Given the description of an element on the screen output the (x, y) to click on. 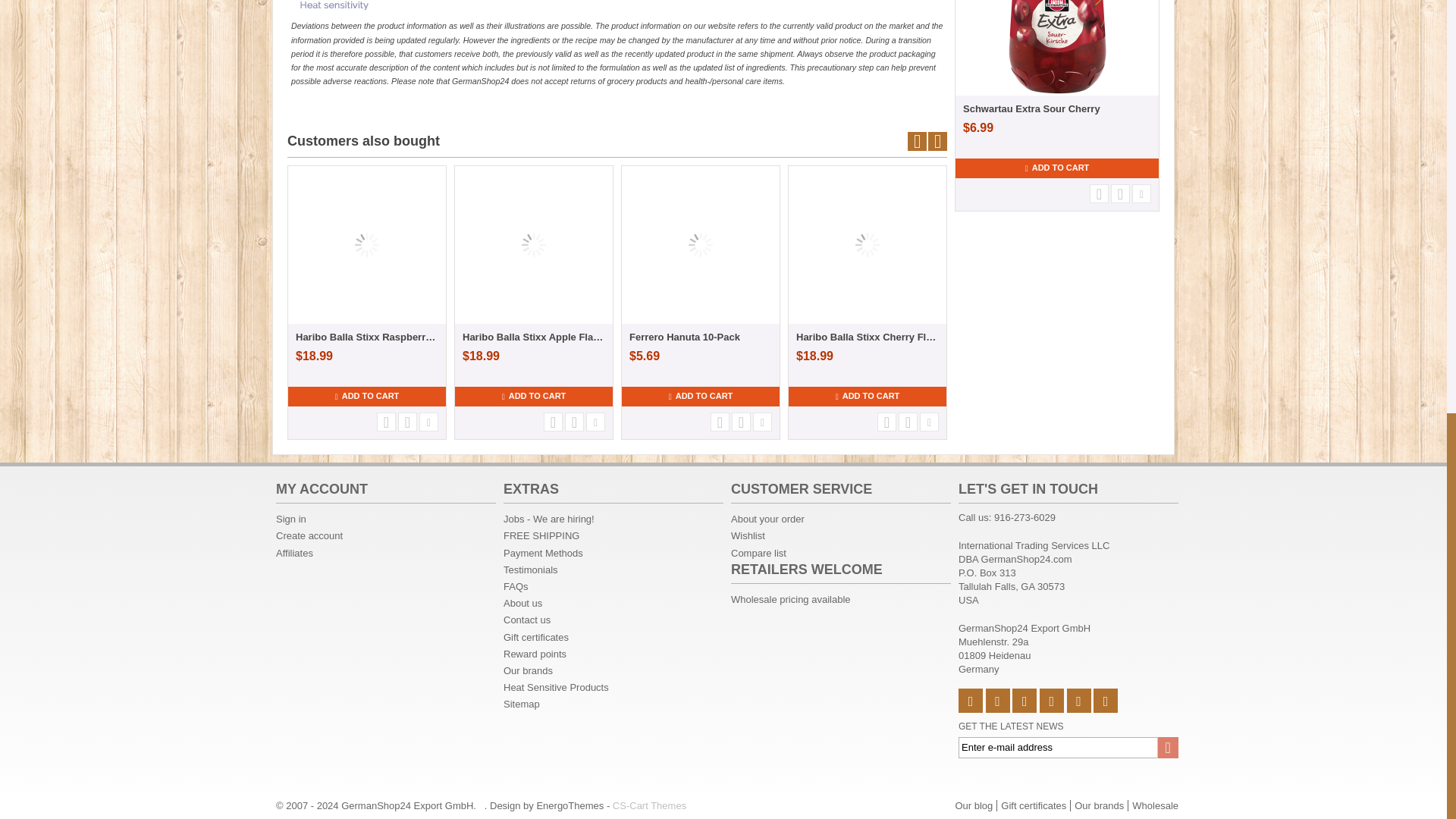
Enter e-mail address (1067, 747)
